Given the description of an element on the screen output the (x, y) to click on. 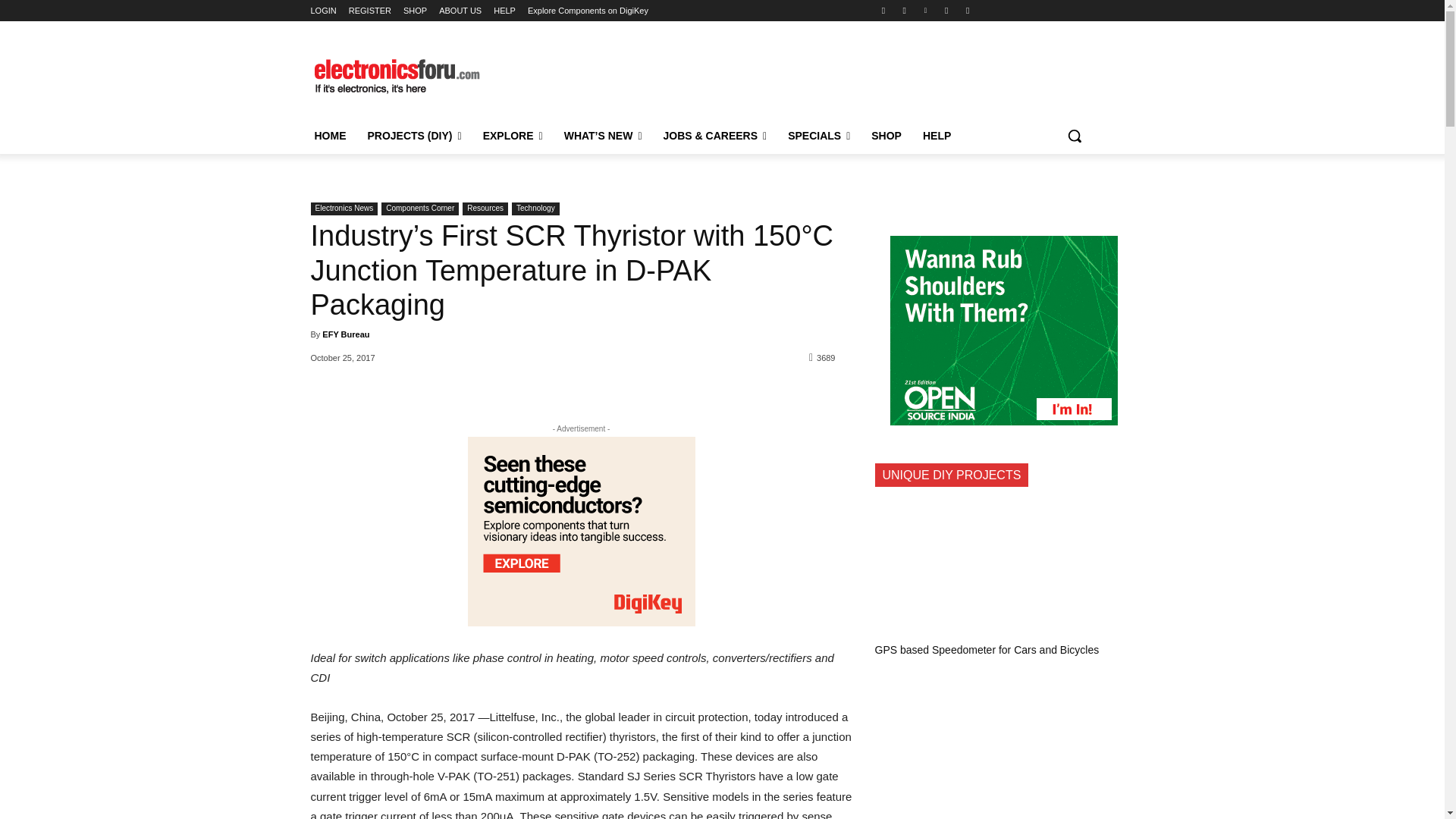
Facebook (883, 9)
Twitter (946, 9)
Instagram (903, 9)
Youtube (967, 9)
Linkedin (925, 9)
